Given the description of an element on the screen output the (x, y) to click on. 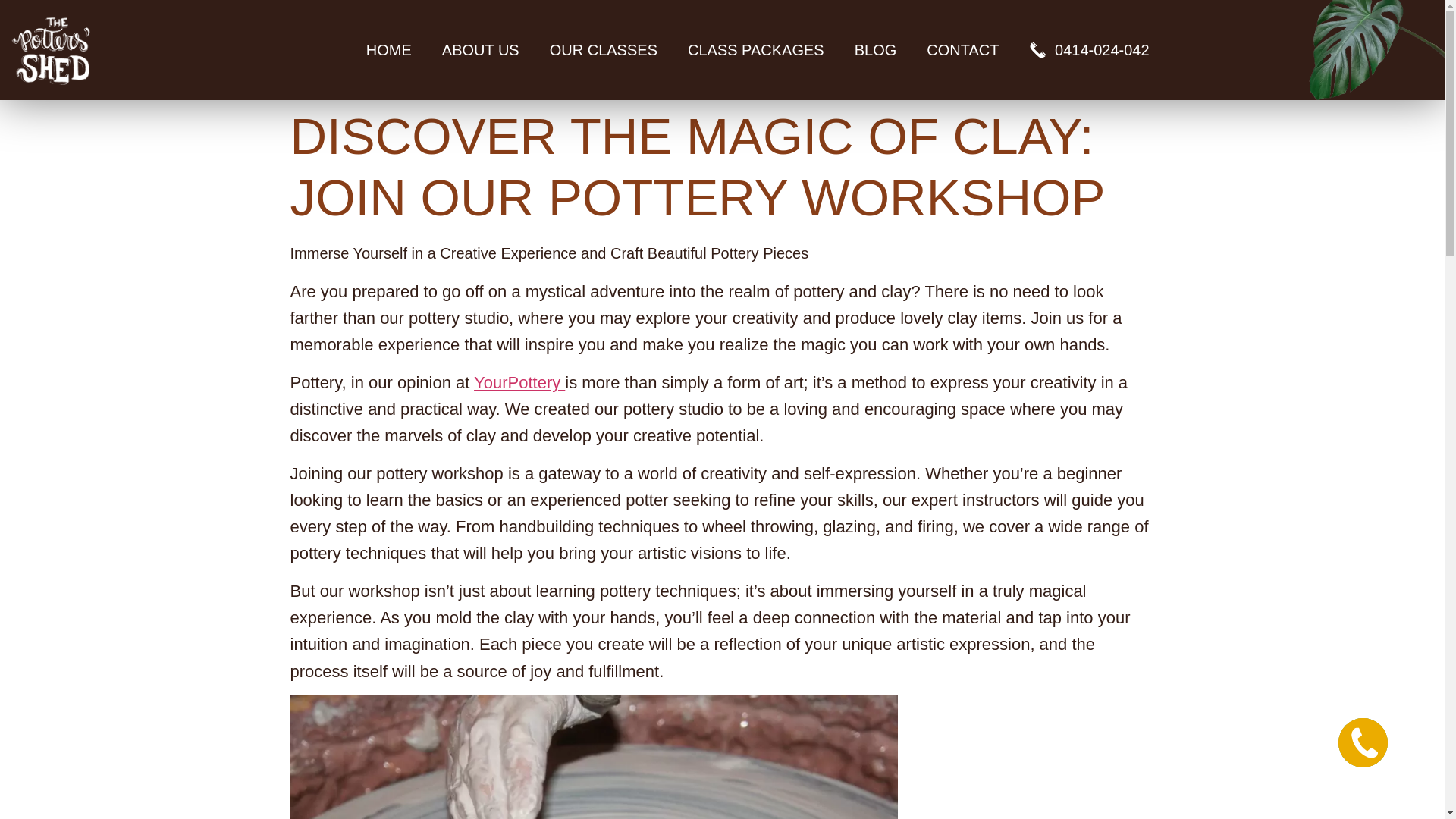
0414-024-042 (1088, 49)
ABOUT US (480, 49)
HOME (388, 49)
CONTACT (962, 49)
BLOG (876, 49)
CLASS PACKAGES (756, 49)
OUR CLASSES (603, 49)
